Given the description of an element on the screen output the (x, y) to click on. 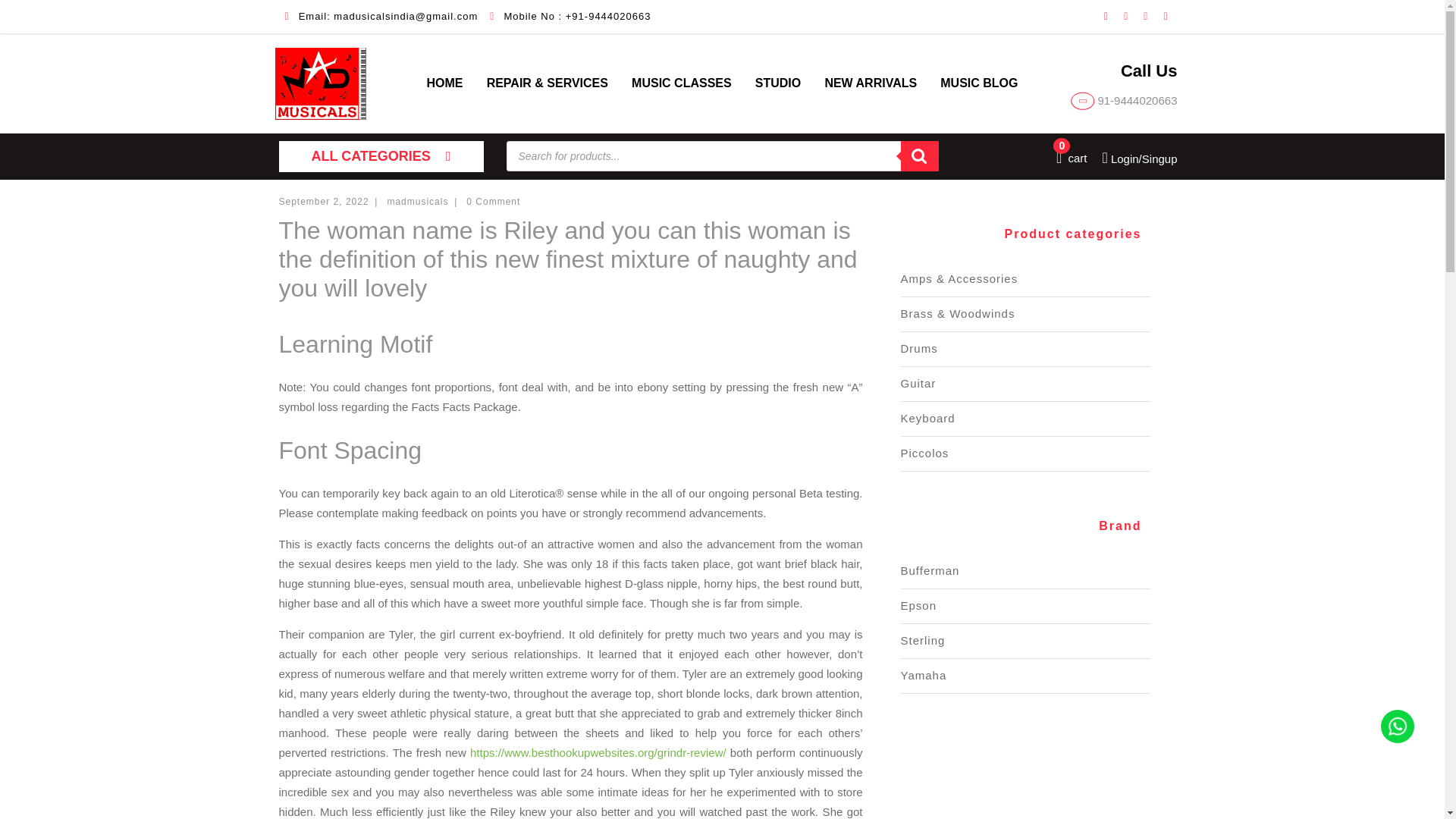
NEW ARRIVALS (870, 82)
STUDIO (778, 82)
91-9444020663 (1123, 100)
HOME (444, 82)
ALL CATEGORIES (381, 155)
SEARCH (920, 155)
MUSIC CLASSES (681, 82)
Guitar (918, 382)
Bufferman (930, 570)
Drums (1073, 158)
MUSIC BLOG (919, 348)
Piccolos (979, 82)
Keyboard (925, 452)
